Given the description of an element on the screen output the (x, y) to click on. 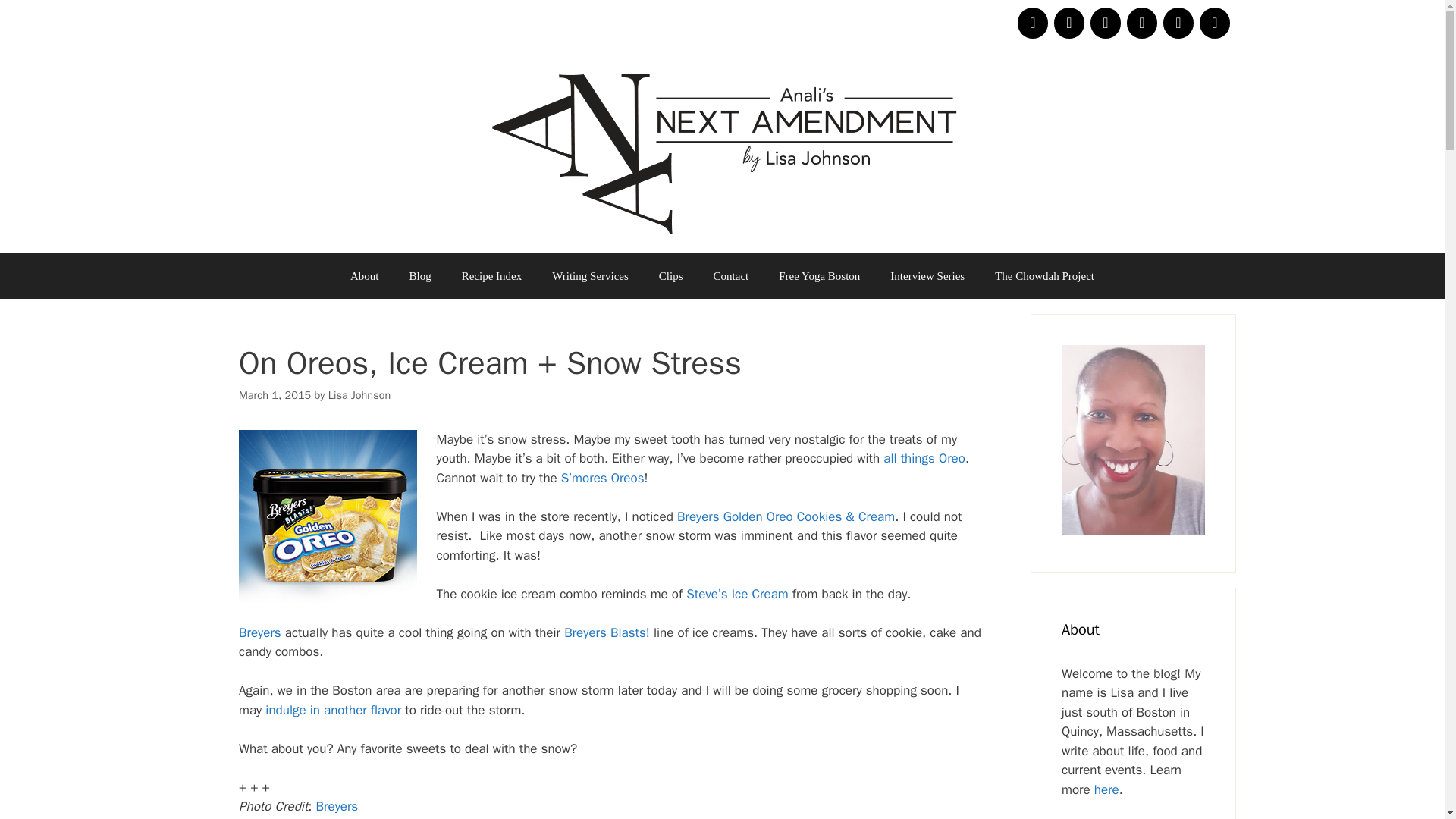
Writing Services (590, 275)
Free Yoga Boston (818, 275)
View all posts by Lisa Johnson (359, 395)
Facebook (1105, 22)
Instagram (1141, 22)
Breyers Golden Oreo ice cream (327, 516)
Twitter (1032, 22)
Contact (731, 275)
About (364, 275)
Interview Series (927, 275)
